Given the description of an element on the screen output the (x, y) to click on. 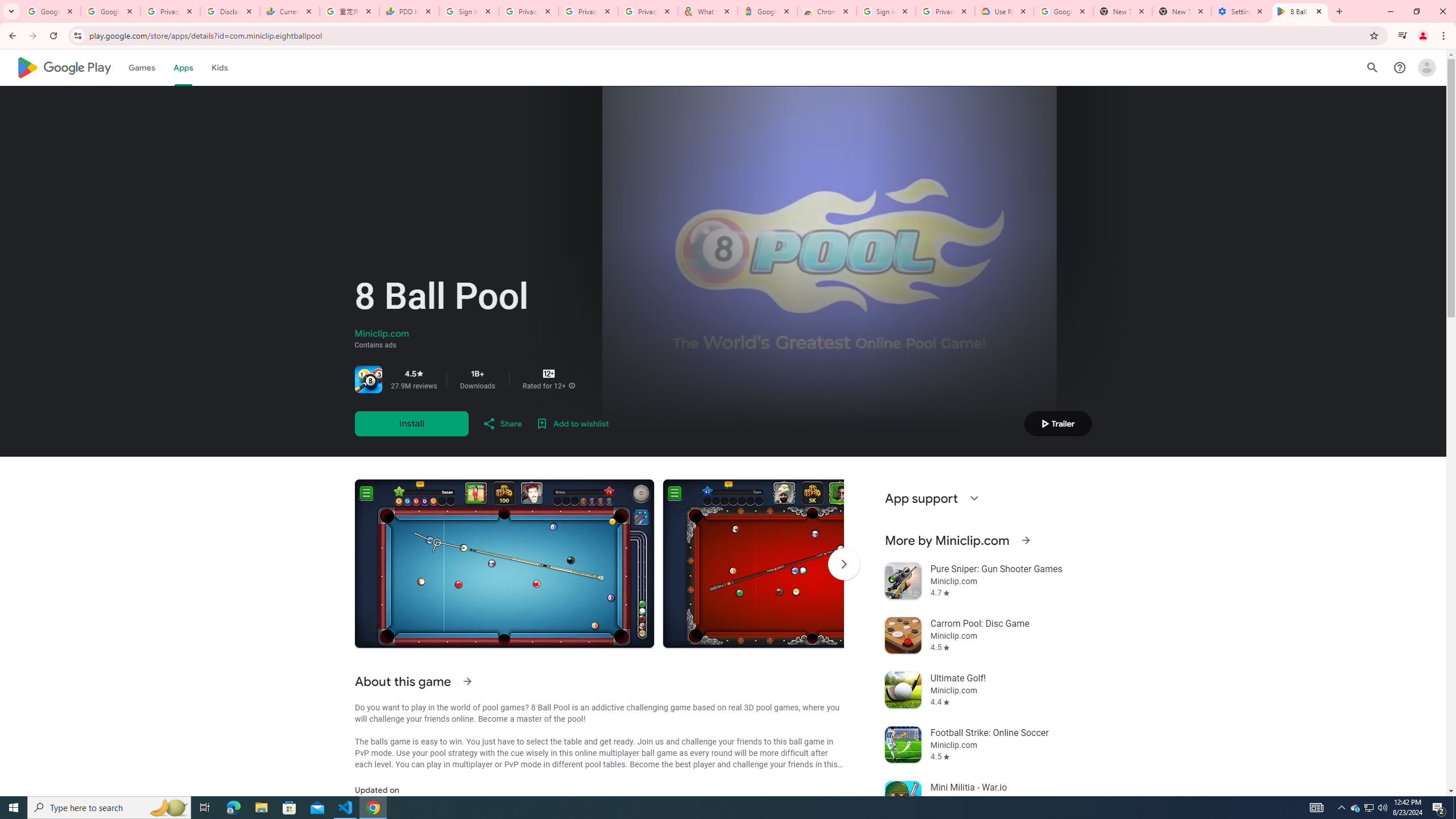
Google Workspace Admin Community (50, 11)
Google (767, 11)
8 Ball Pool - Apps on Google Play (1300, 11)
Currencies - Google Finance (289, 11)
See more information on About this game (466, 681)
Help Center (1399, 67)
